Given the description of an element on the screen output the (x, y) to click on. 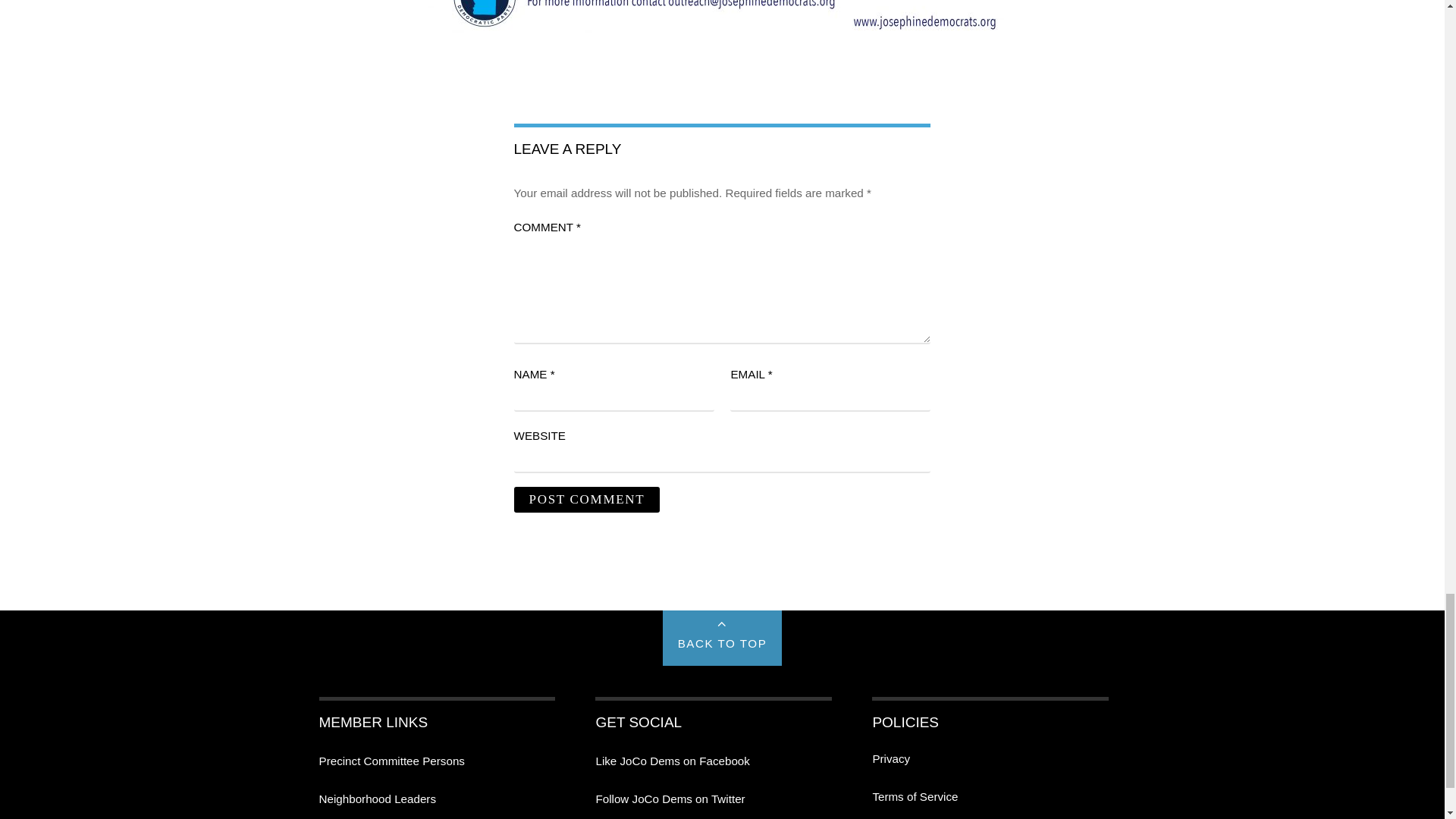
BACK TO TOP (722, 637)
Precinct Committee Persons (391, 760)
Post Comment (587, 499)
Post Comment (587, 499)
Neighborhood Leaders (376, 798)
Like JoCo Dems on Facebook (672, 760)
